Given the description of an element on the screen output the (x, y) to click on. 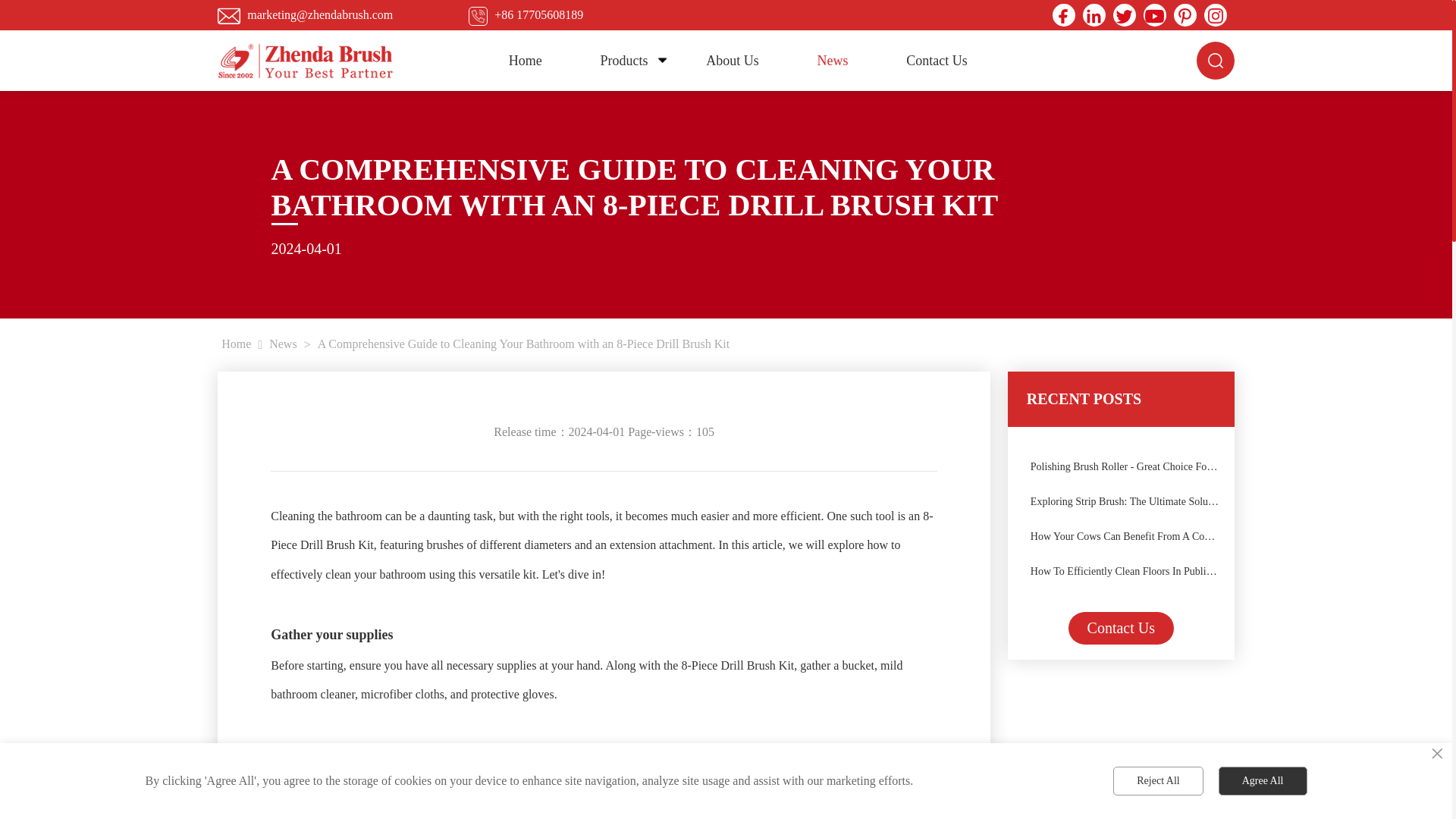
About Us (732, 60)
Home (524, 60)
Products (623, 60)
Contact Us (936, 60)
News (832, 60)
